Given the description of an element on the screen output the (x, y) to click on. 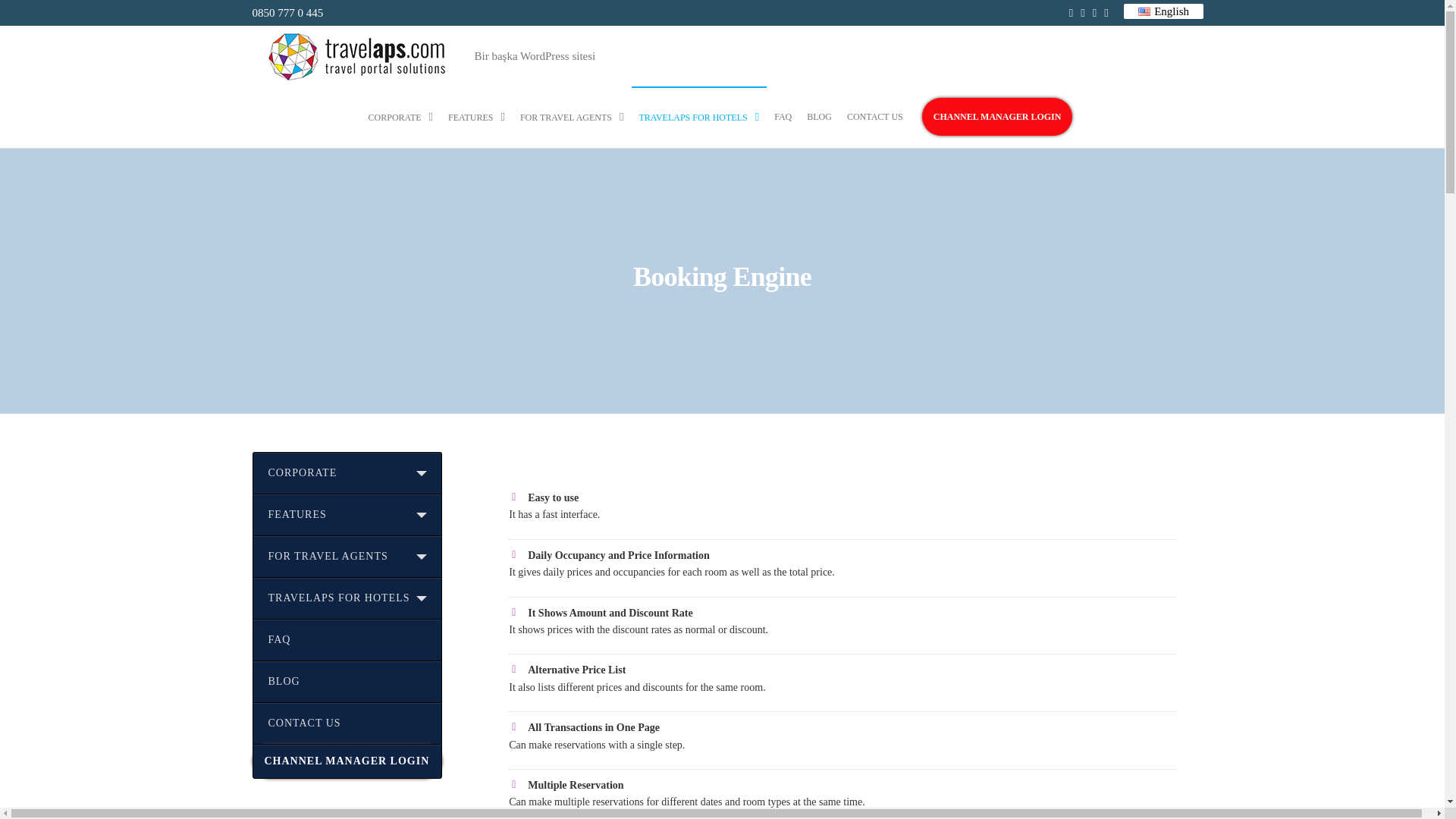
FEATURES (476, 117)
Corporate (401, 117)
Features (476, 117)
CORPORATE (401, 117)
FOR TRAVEL AGENTS (571, 117)
